Given the description of an element on the screen output the (x, y) to click on. 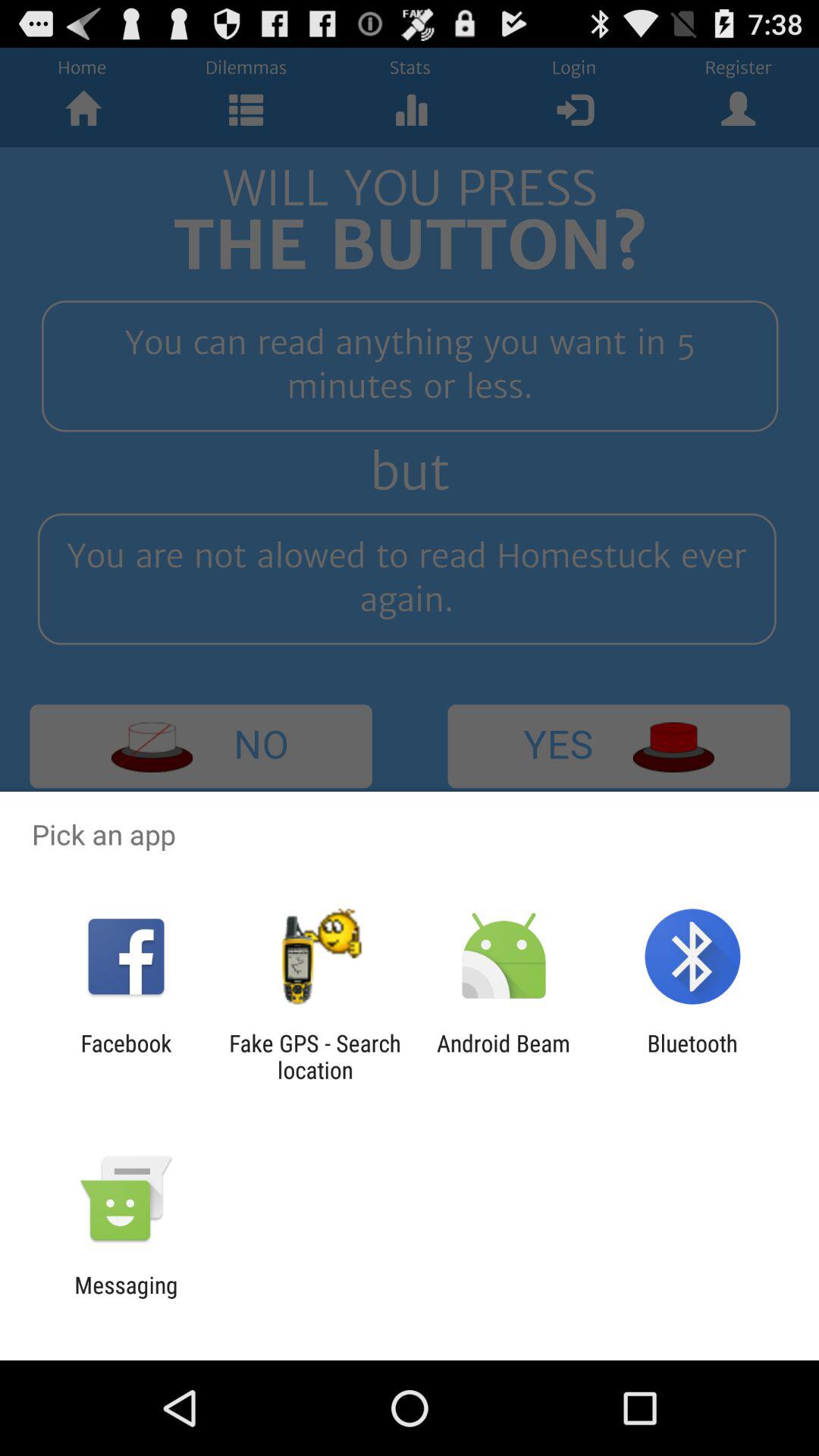
turn off app to the left of the android beam item (314, 1056)
